Given the description of an element on the screen output the (x, y) to click on. 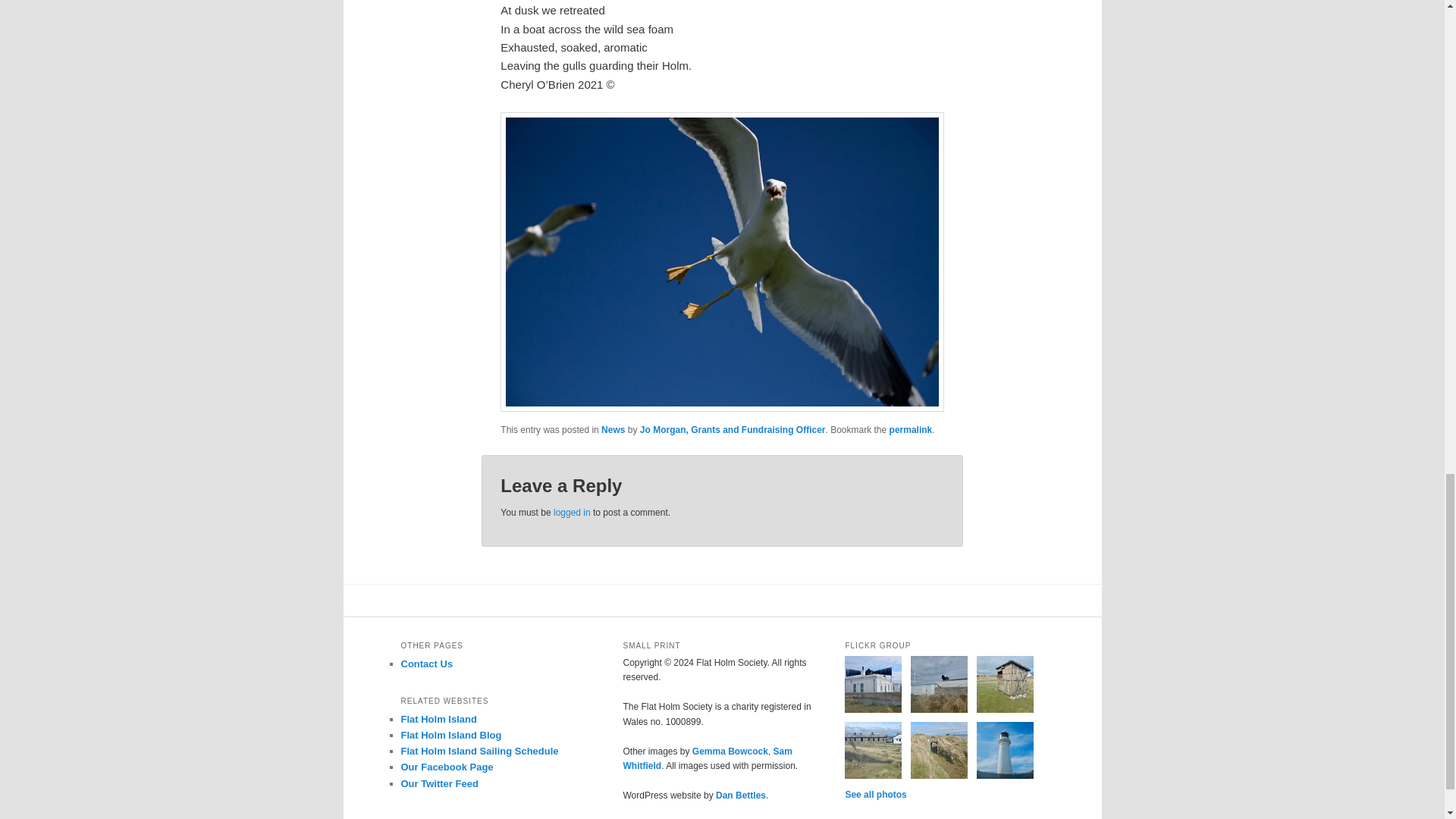
Flat Holm Island Sailing Schedule (478, 750)
See all photos (874, 794)
permalink (911, 429)
Sam Whitfield (707, 759)
News (612, 429)
Latest sailing times and availability  (478, 750)
Flat Holm Island Blog (450, 735)
Our Facebook Page (446, 767)
Fog Horn, Flat Holm (939, 684)
Flat Holm Lighthouse c (1004, 749)
Permalink to Gull Counting on Flat Holm (911, 429)
Dan Bettles (740, 795)
Fog Horn, Flat Holm c (872, 684)
Barrack Building (872, 749)
Our Twitter Feed (438, 783)
